Given the description of an element on the screen output the (x, y) to click on. 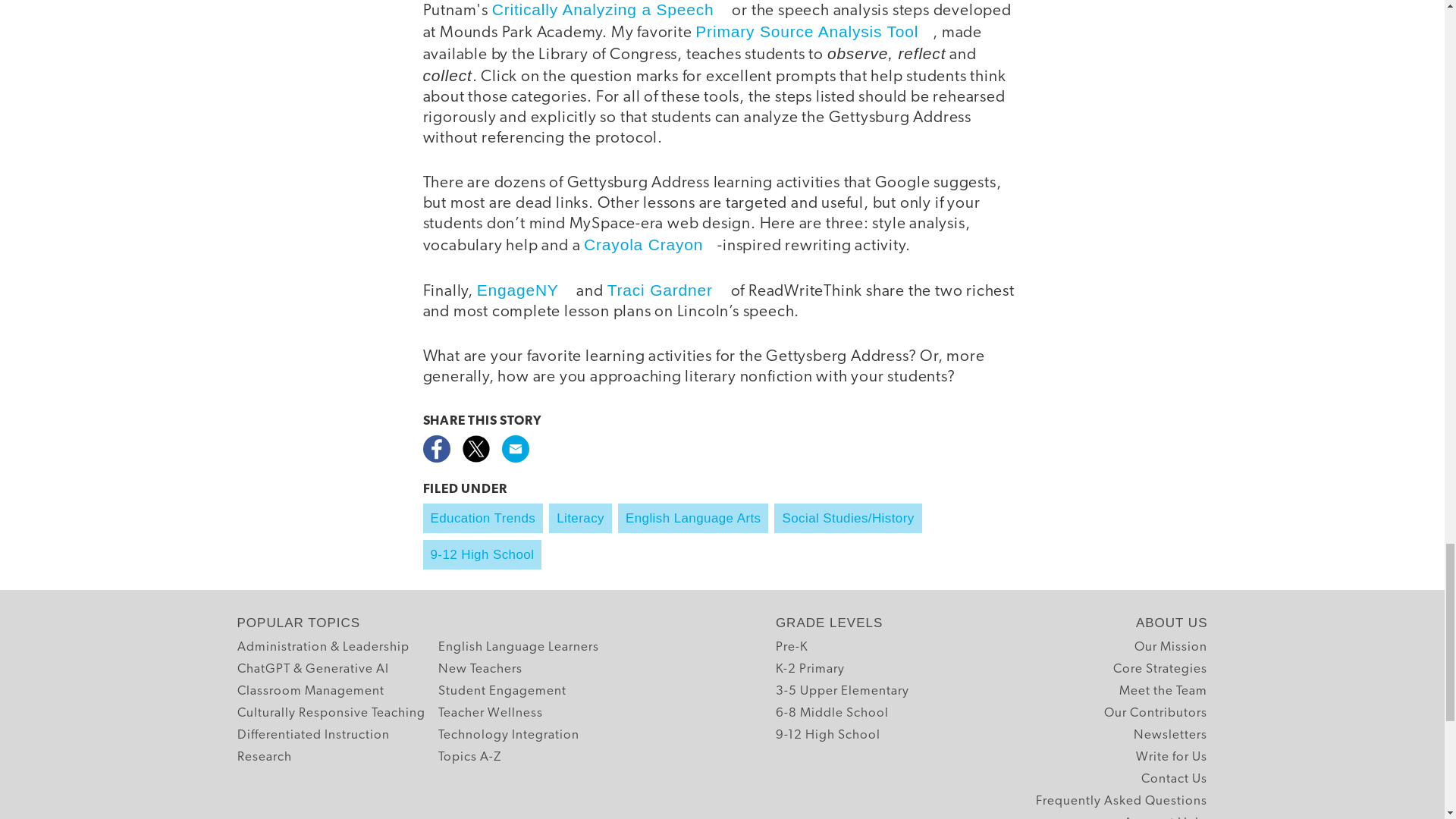
Primary Source Analysis Tool (814, 31)
Crayola Crayon (650, 244)
Critically Analyzing a Speech (610, 9)
